Given the description of an element on the screen output the (x, y) to click on. 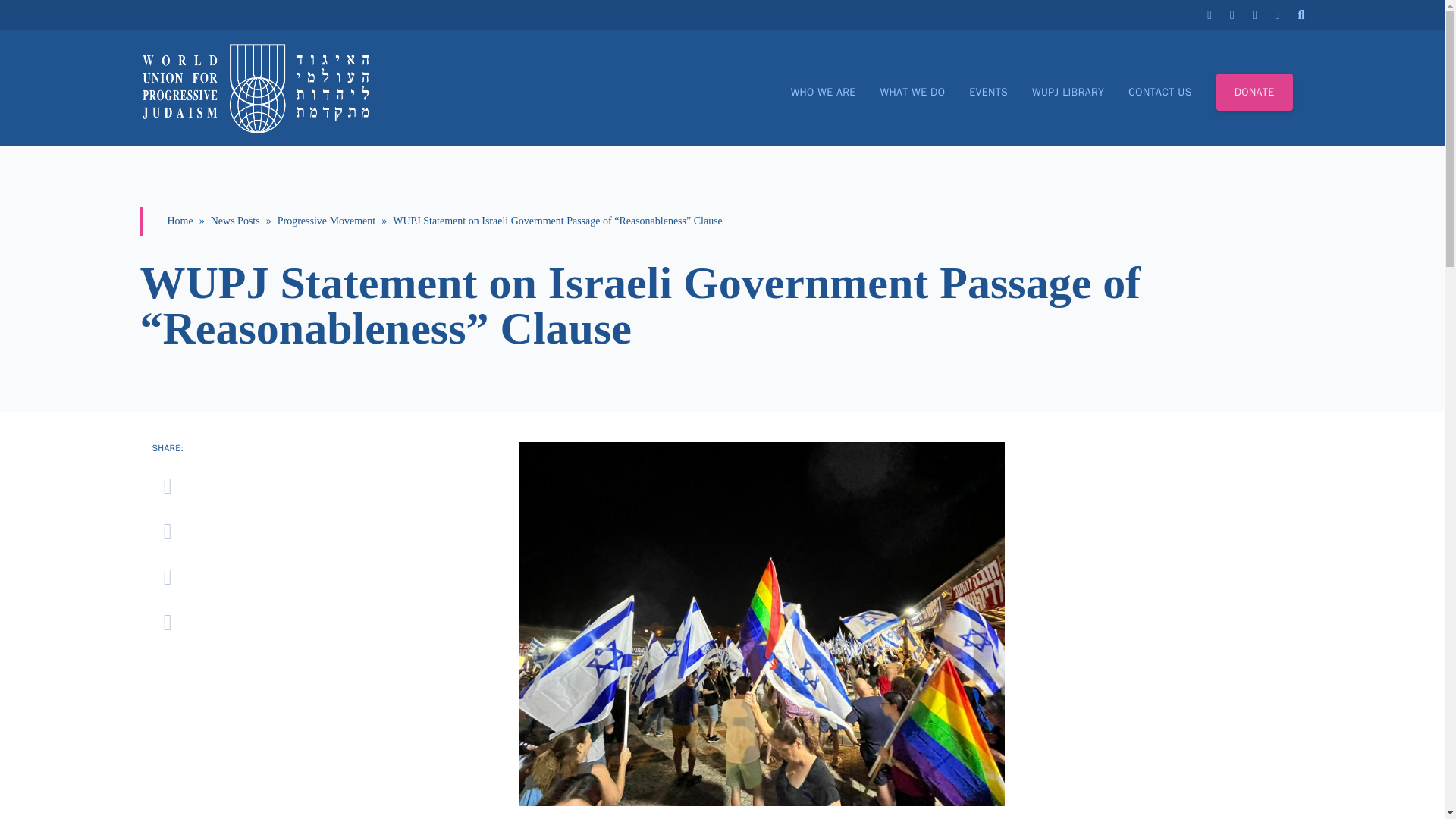
News Posts (235, 220)
WHO WE ARE (823, 93)
DONATE (1253, 91)
WHAT WE DO (912, 93)
WUPJ LIBRARY (1067, 93)
CONTACT US (1159, 93)
Home (179, 220)
EVENTS (988, 93)
Progressive Movement (326, 220)
